Given the description of an element on the screen output the (x, y) to click on. 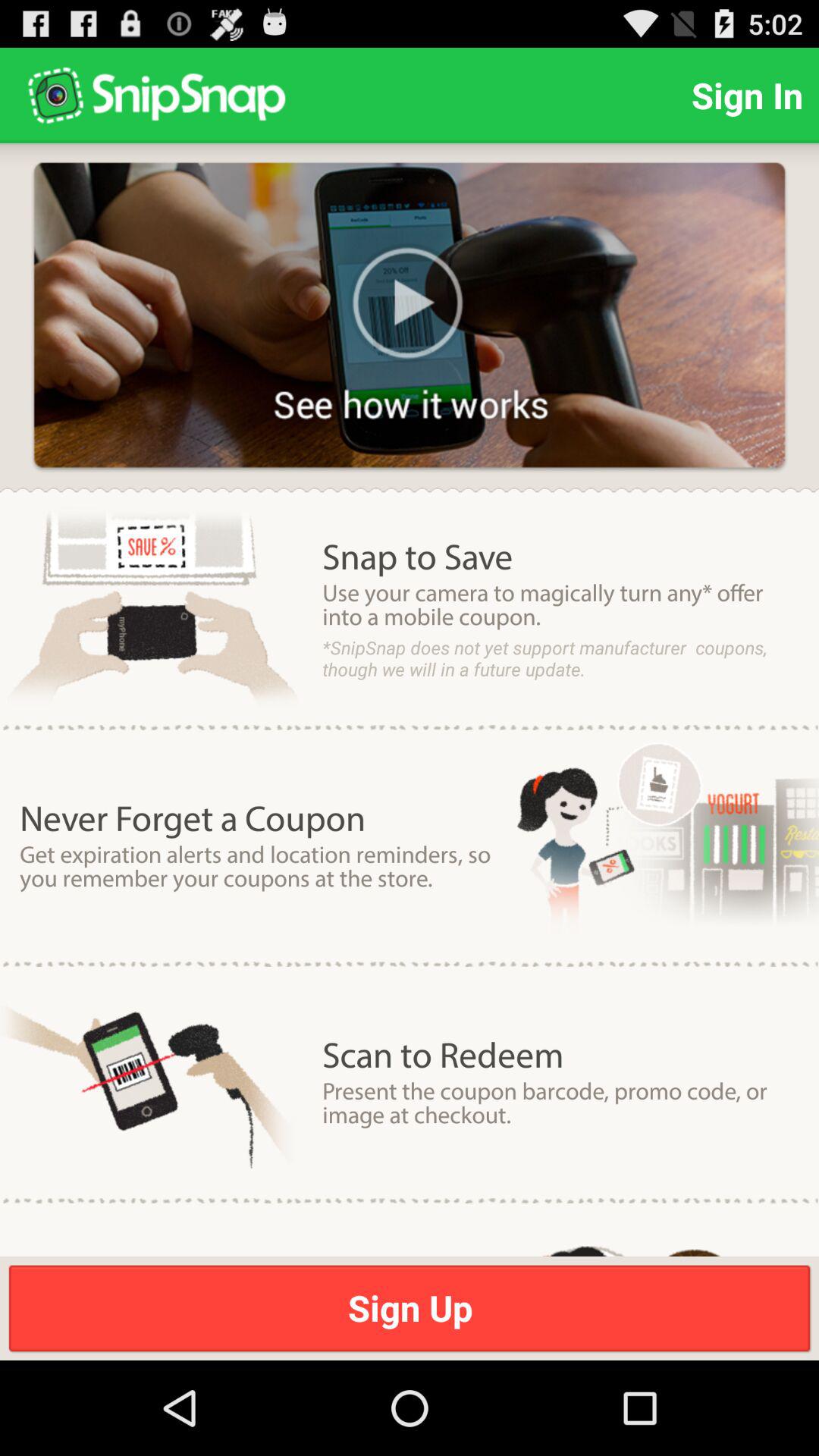
tap the sign in icon (747, 95)
